Given the description of an element on the screen output the (x, y) to click on. 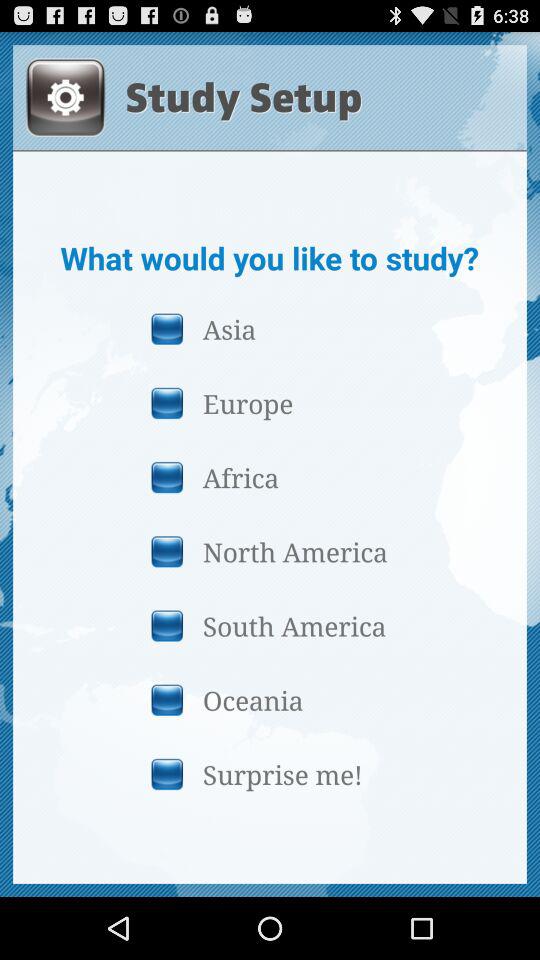
turn off the icon below the north america icon (269, 625)
